Given the description of an element on the screen output the (x, y) to click on. 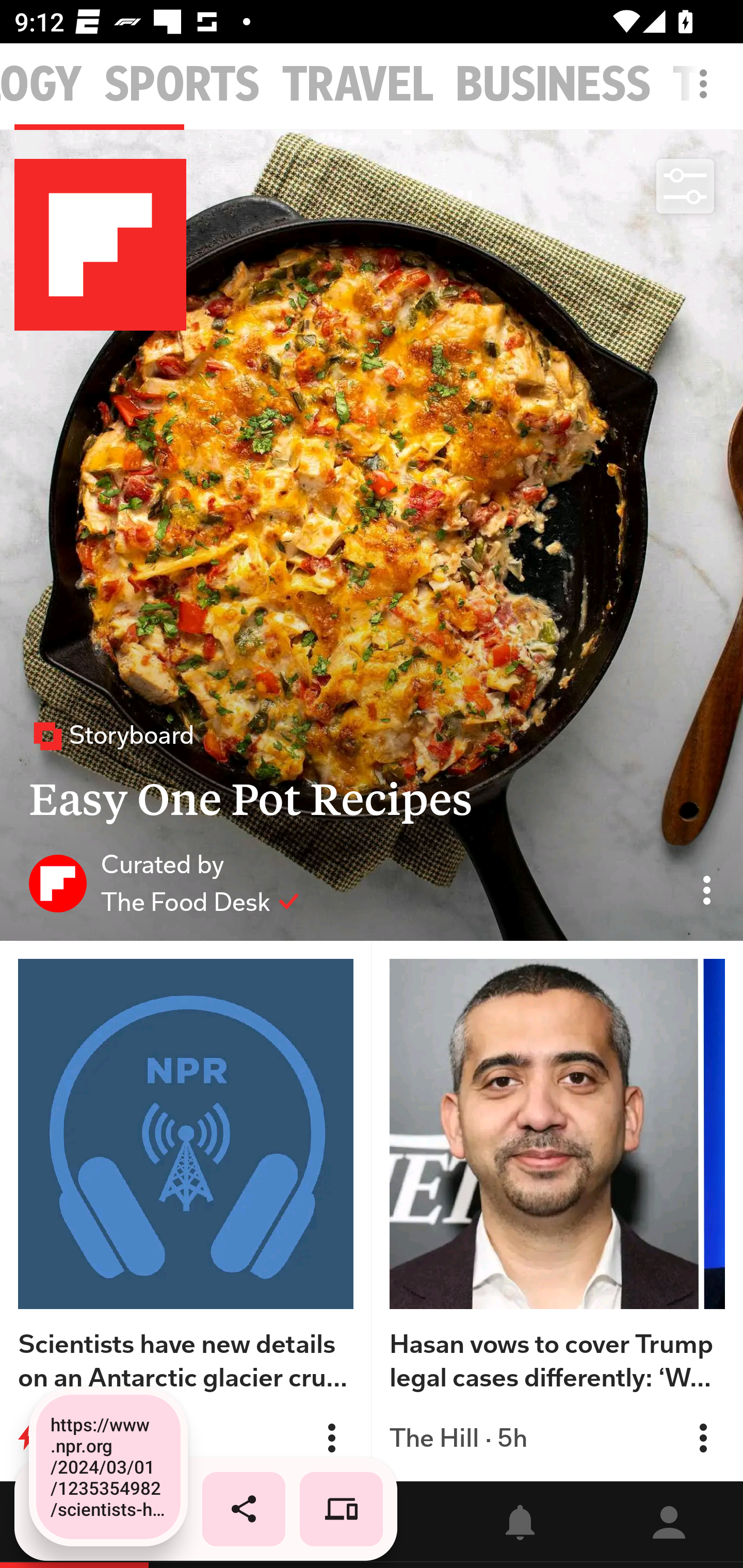
SPORTS (182, 84)
TRAVEL (357, 84)
BUSINESS (552, 84)
More options (706, 93)
Curated by The Food Desk (163, 882)
The Hill · 5h Flip into Magazine (557, 1437)
Flip into Magazine (331, 1437)
Flip into Magazine (703, 1437)
Notifications (519, 1524)
Profile (668, 1524)
